Given the description of an element on the screen output the (x, y) to click on. 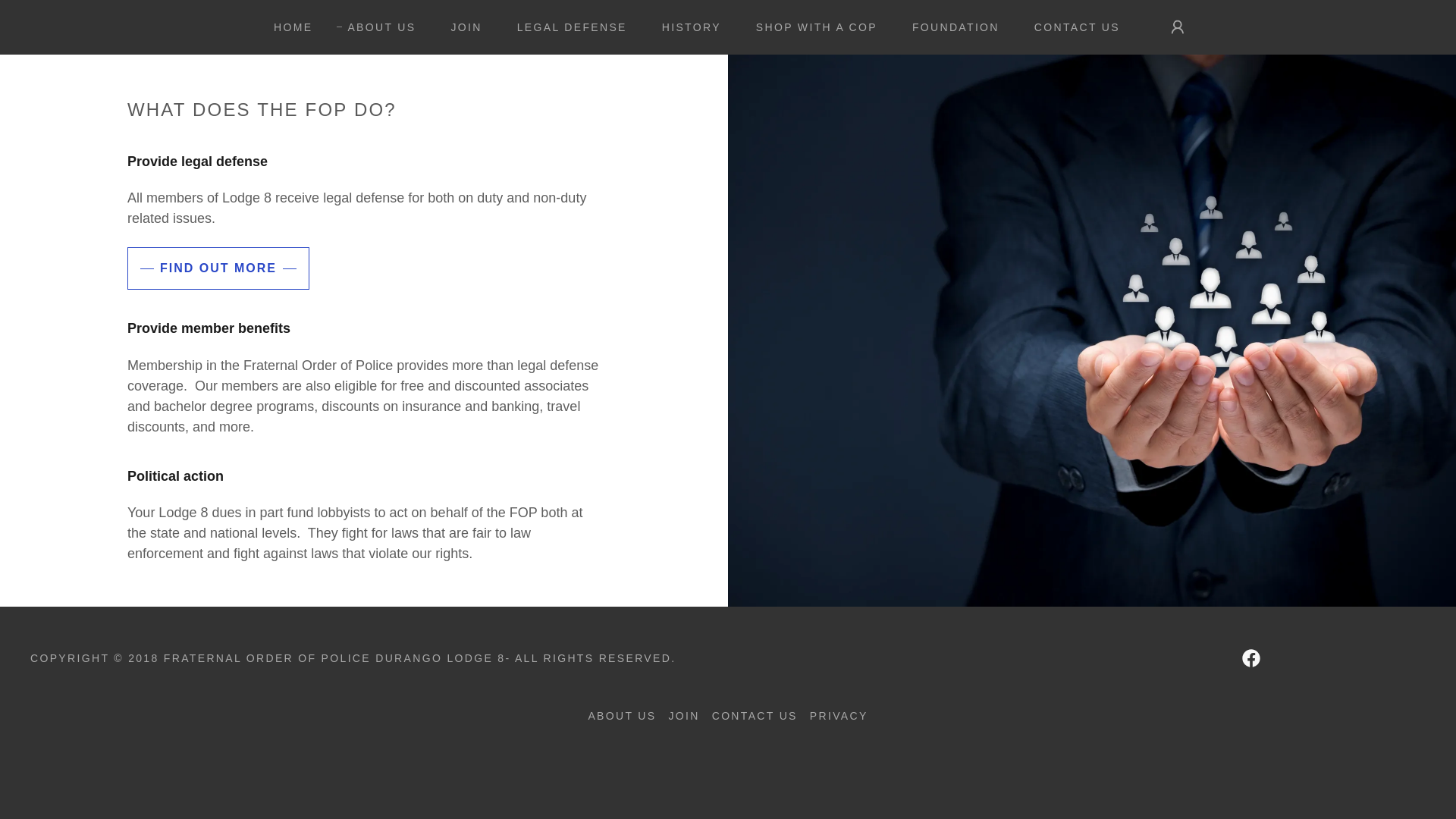
JOIN (460, 26)
FIND OUT MORE (218, 268)
ABOUT US (375, 27)
PRIVACY (839, 715)
ABOUT US (621, 715)
SHOP WITH A COP (811, 26)
CONTACT US (1071, 26)
FOUNDATION (950, 26)
JOIN (683, 715)
HOME (288, 26)
CONTACT US (754, 715)
LEGAL DEFENSE (566, 26)
HISTORY (685, 26)
